Given the description of an element on the screen output the (x, y) to click on. 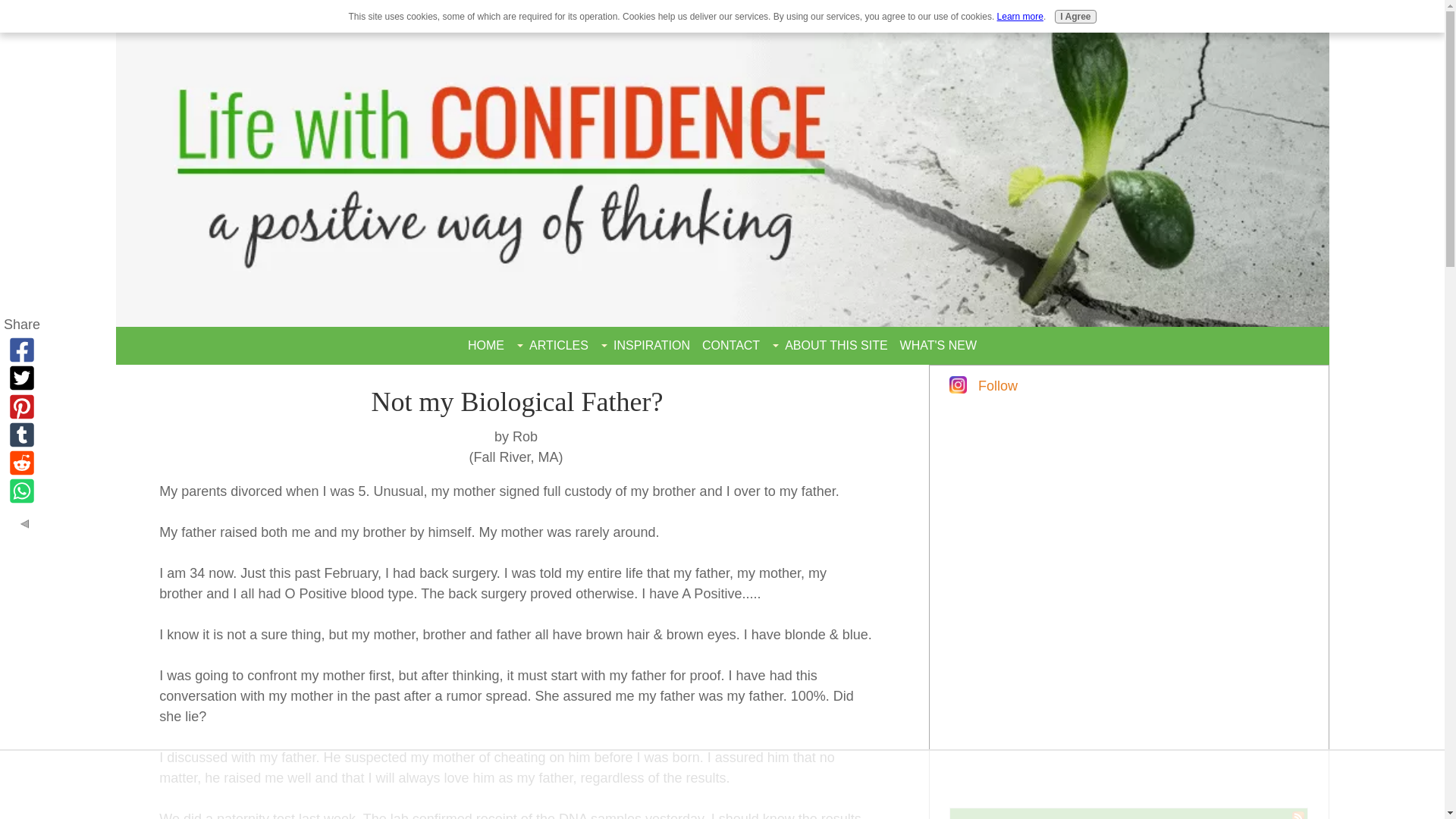
CONTACT (730, 345)
Follow (997, 385)
HOME (486, 345)
WHAT'S NEW (937, 345)
